Given the description of an element on the screen output the (x, y) to click on. 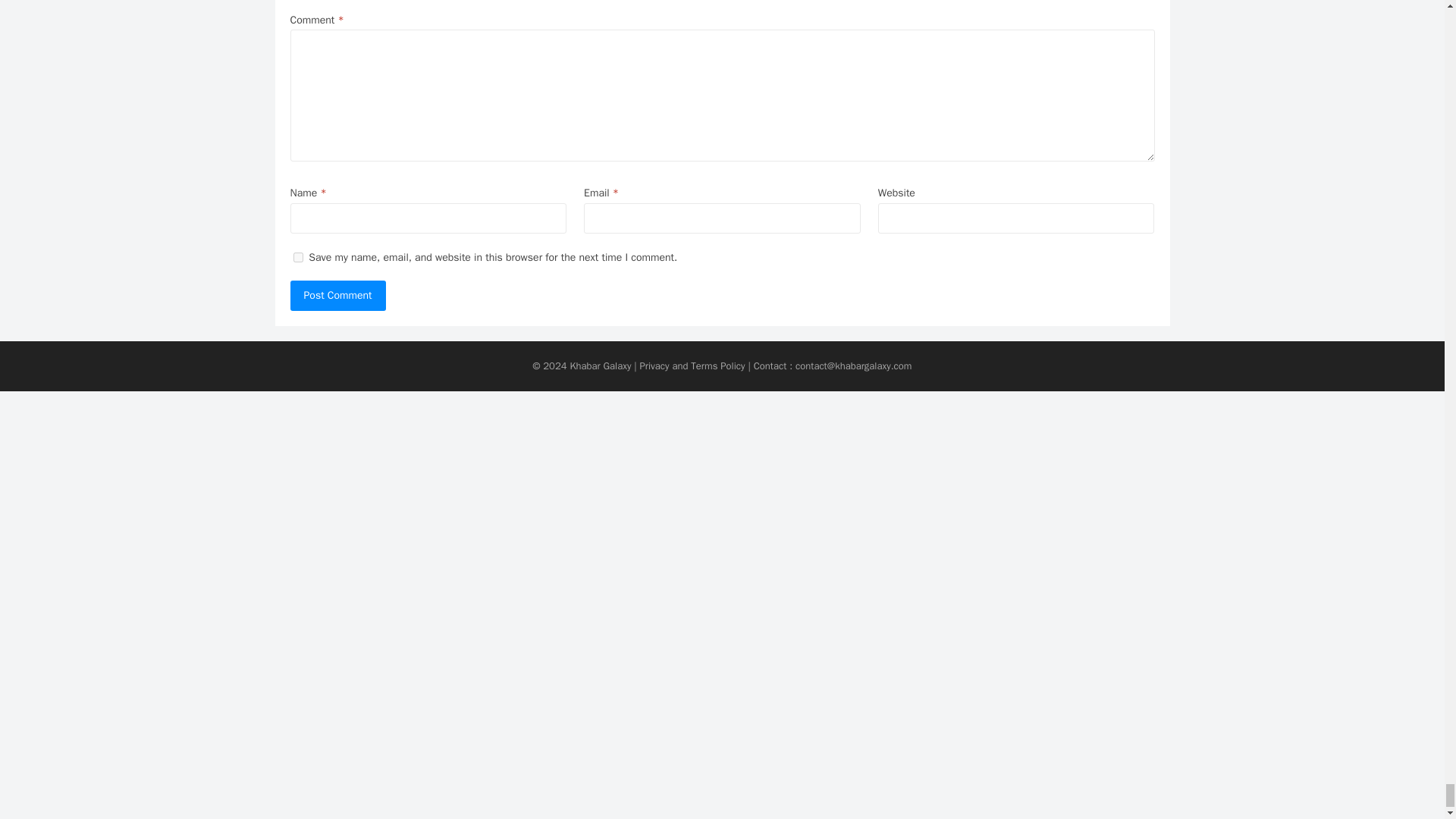
yes (297, 257)
Post Comment (337, 295)
